Given the description of an element on the screen output the (x, y) to click on. 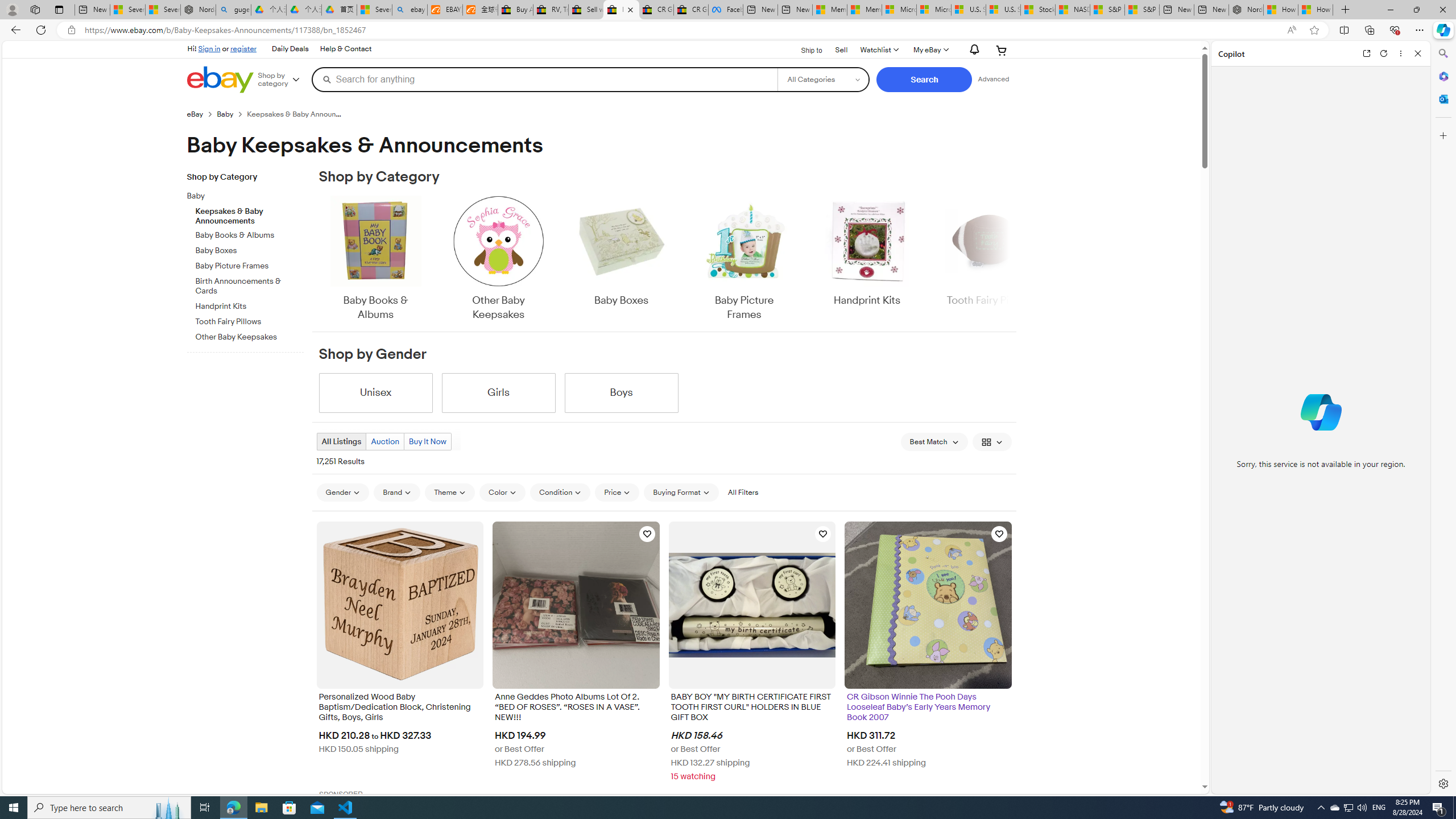
Baby Picture Frames (743, 258)
Open link in new tab (1366, 53)
Handprint Kits (866, 251)
